Given the description of an element on the screen output the (x, y) to click on. 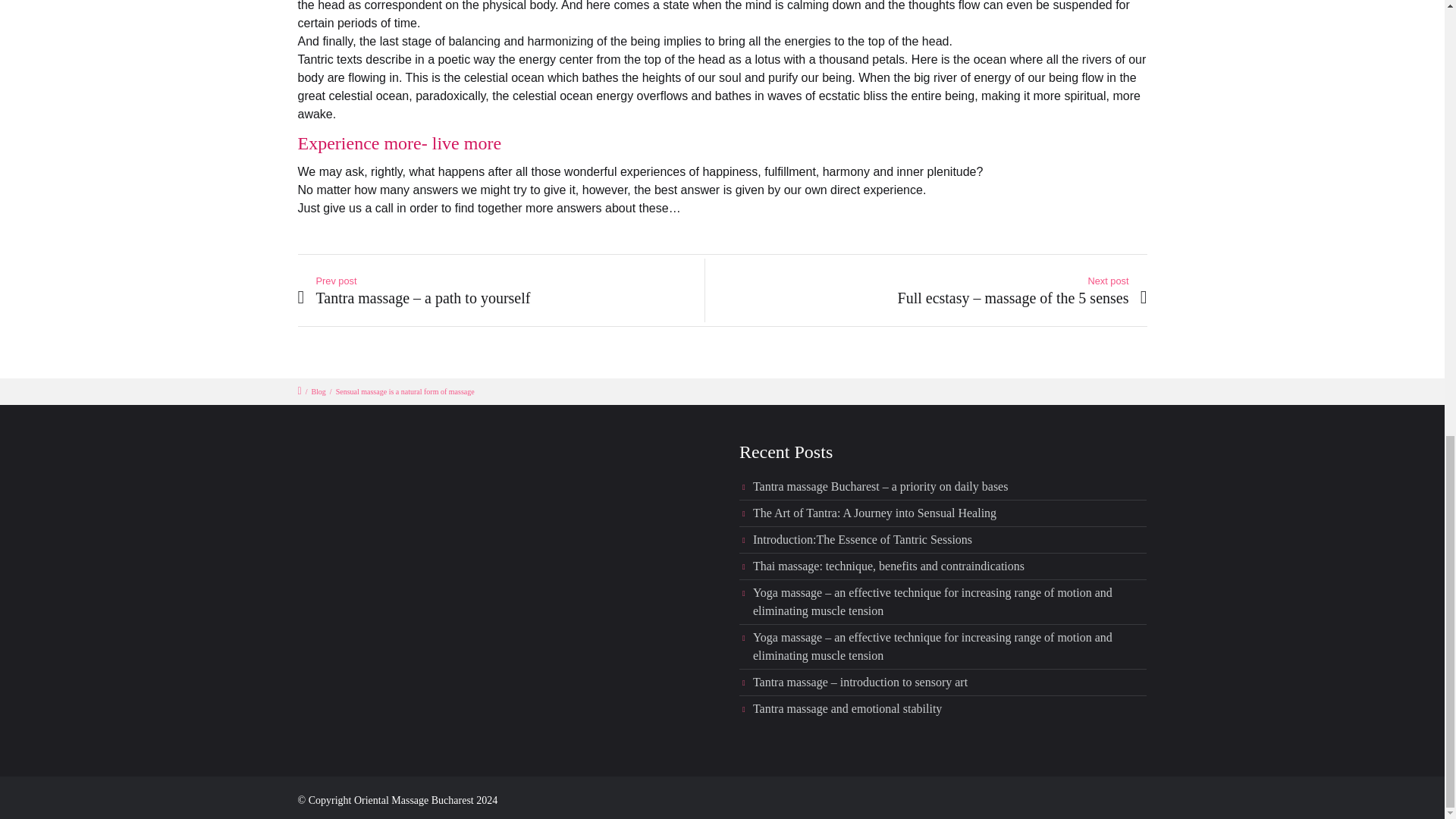
Blog (317, 391)
Thai massage: technique, benefits and contraindications (888, 565)
Introduction:The Essence of Tantric Sessions (862, 539)
Tantra massage and emotional stability (847, 707)
The Art of Tantra: A Journey into Sensual Healing (873, 512)
